Given the description of an element on the screen output the (x, y) to click on. 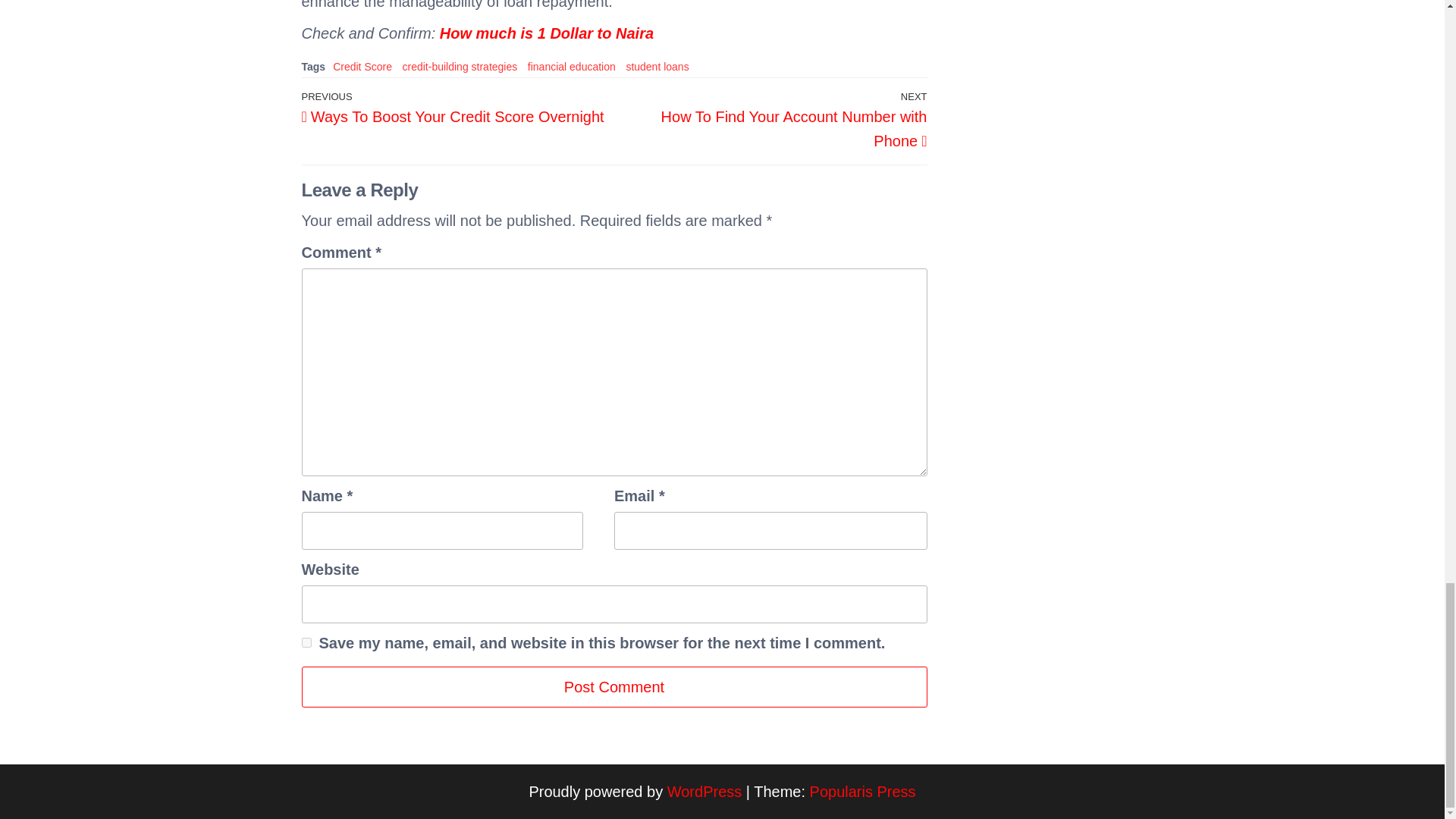
student loans (657, 66)
yes (306, 642)
How much is 1 Dollar to Naira (546, 33)
Credit Score (362, 66)
WordPress (704, 791)
financial education (770, 119)
credit-building strategies (571, 66)
Post Comment (460, 66)
